Given the description of an element on the screen output the (x, y) to click on. 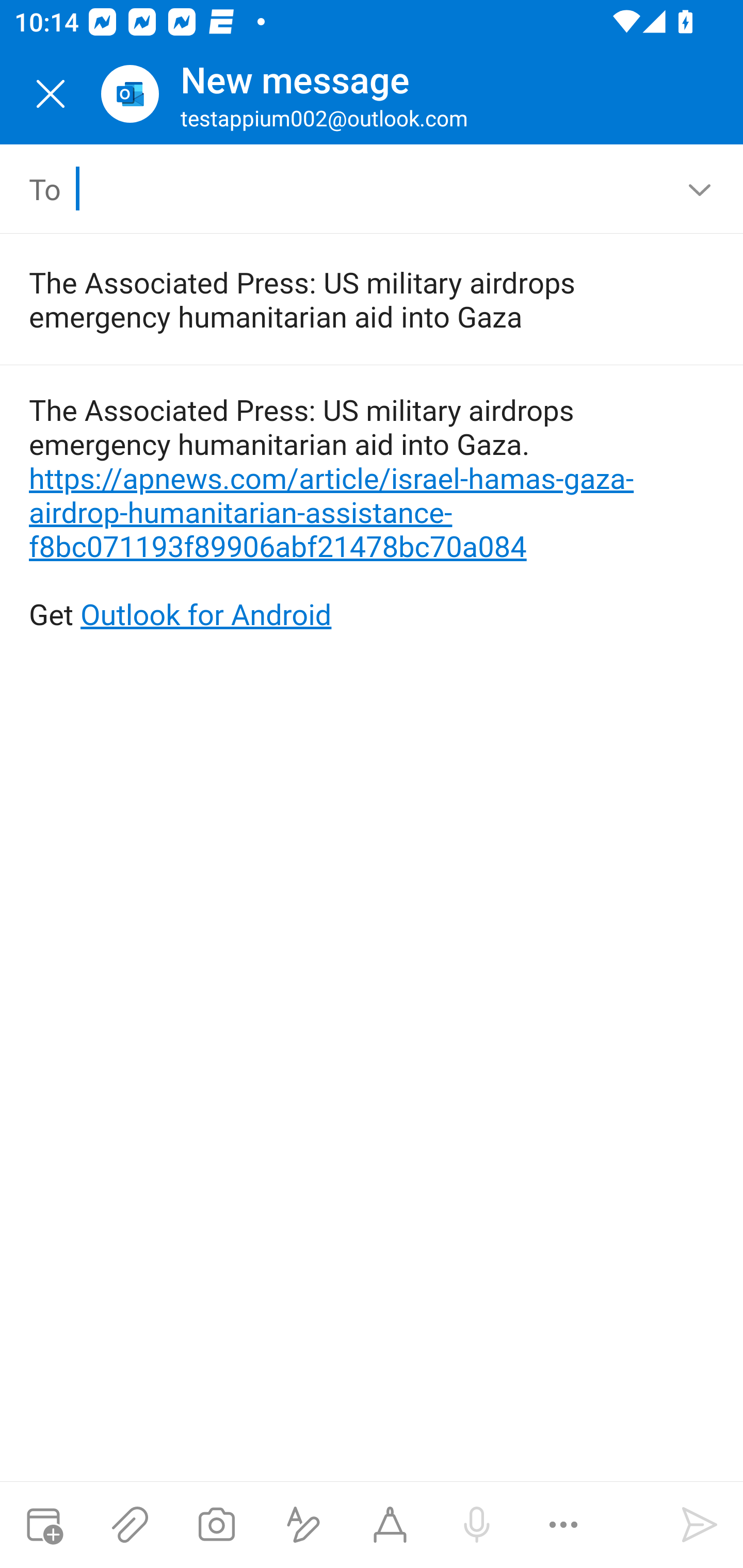
Close (50, 93)
Attach meeting (43, 1524)
Attach files (129, 1524)
Take a photo (216, 1524)
Show formatting options (303, 1524)
Start Ink compose (389, 1524)
More options (563, 1524)
Send (699, 1524)
